Given the description of an element on the screen output the (x, y) to click on. 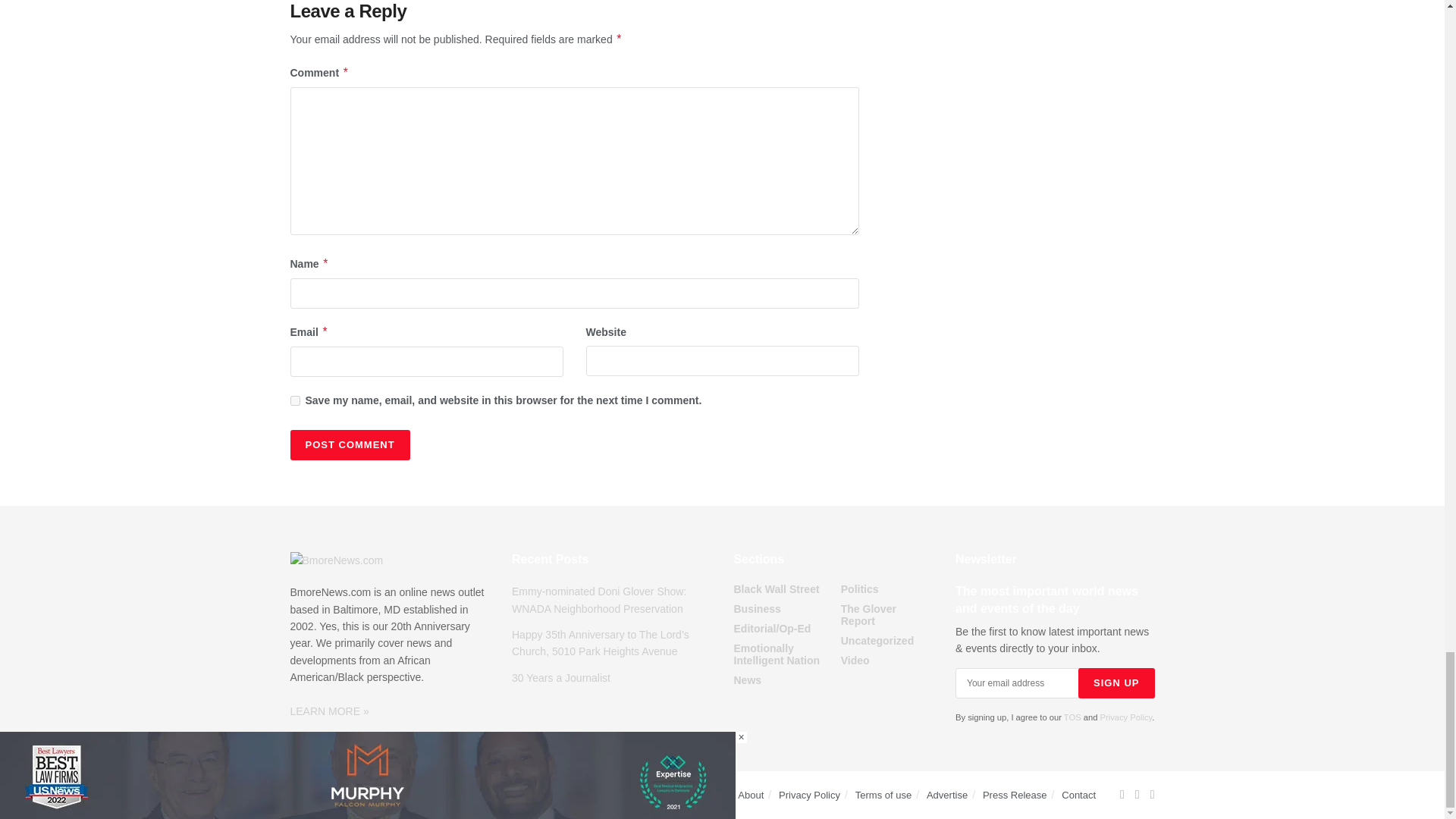
Post Comment (349, 444)
yes (294, 400)
Sign up (1116, 683)
